Given the description of an element on the screen output the (x, y) to click on. 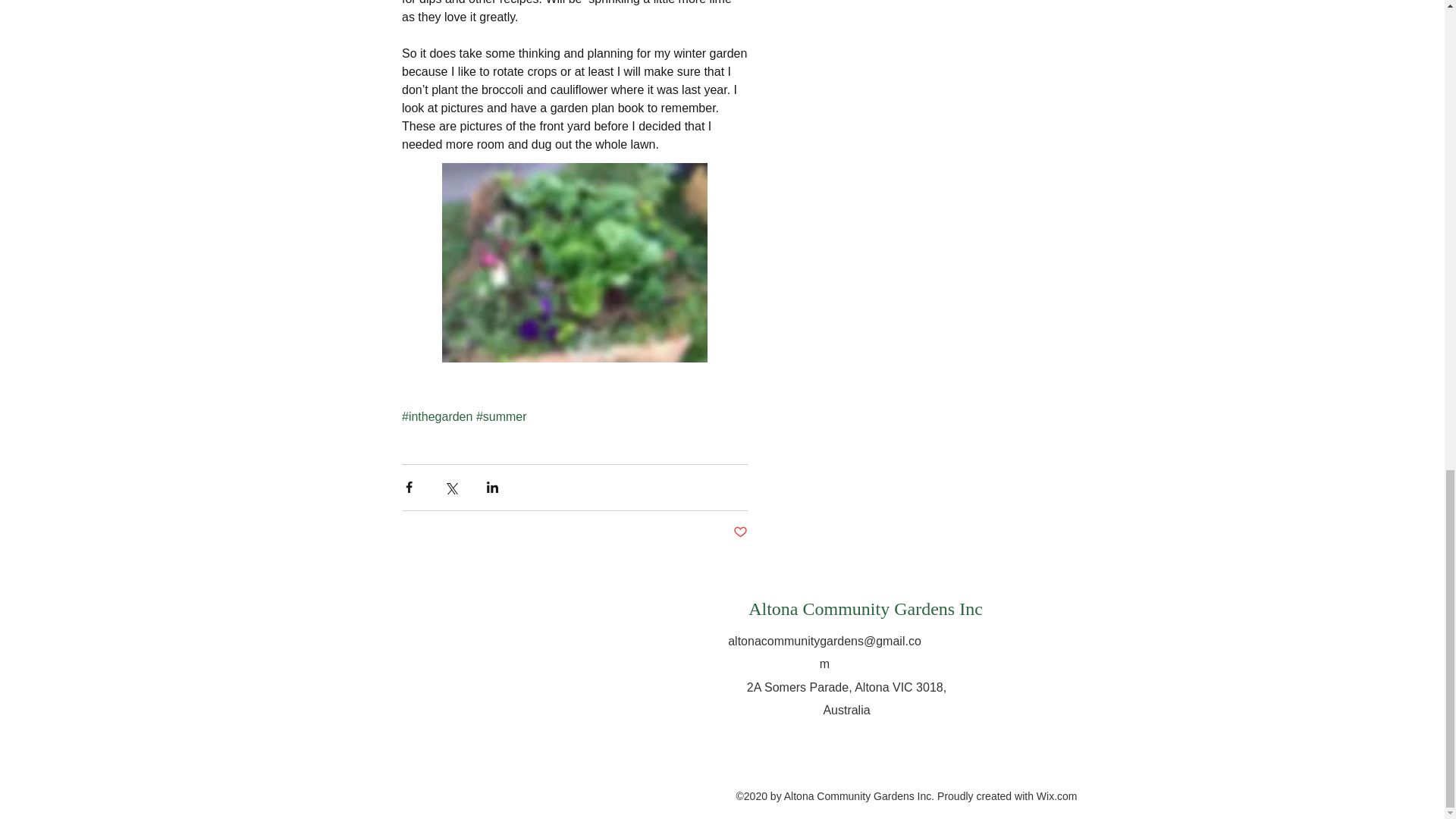
Post not marked as liked (739, 532)
